Given the description of an element on the screen output the (x, y) to click on. 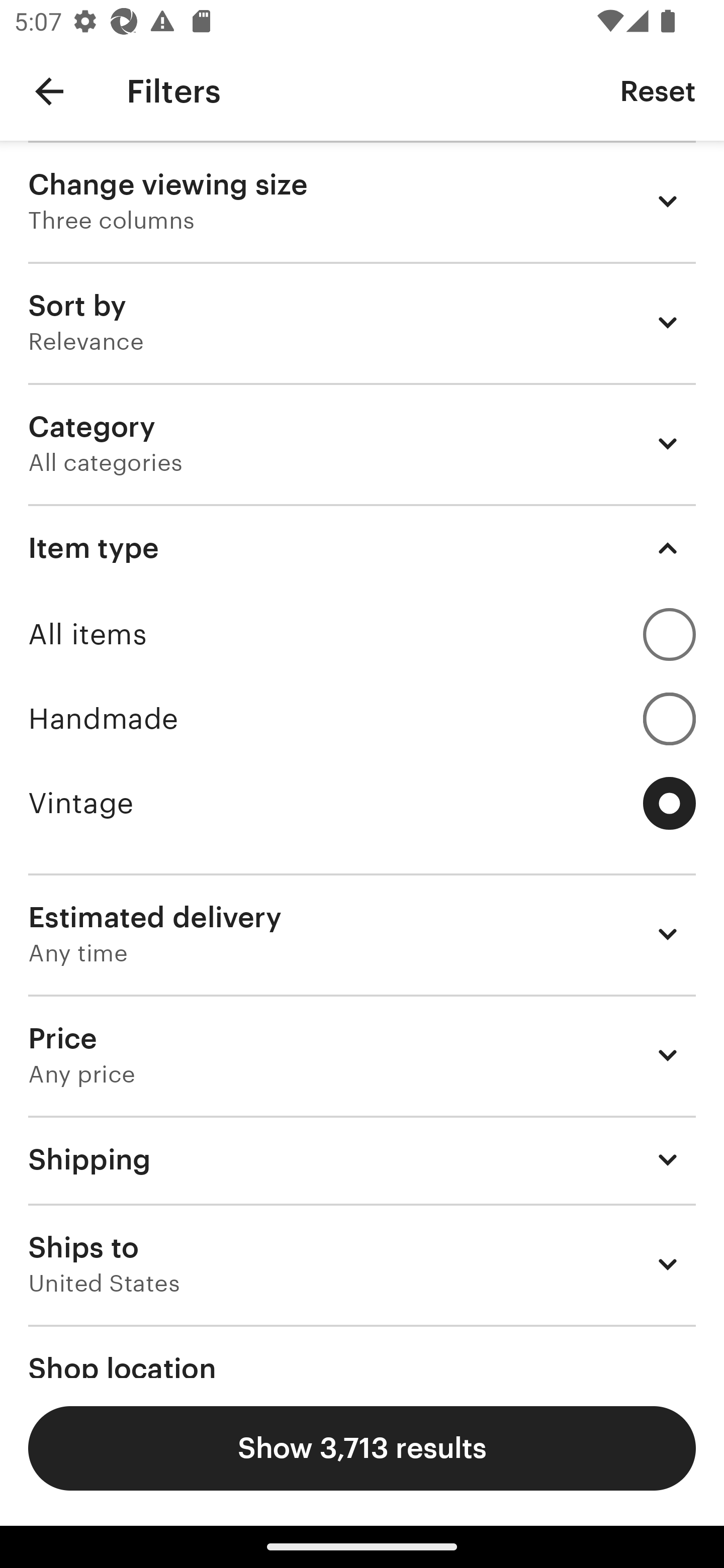
Navigate up (49, 91)
Reset (657, 90)
Change viewing size Three columns (362, 201)
Sort by Relevance (362, 321)
Category All categories (362, 442)
Item type (362, 547)
All items (362, 633)
Handmade (362, 717)
Vintage (362, 802)
Estimated delivery Any time (362, 933)
Price Any price (362, 1055)
Shipping (362, 1160)
Ships to United States (362, 1264)
Shop location (362, 1351)
Show 3,713 results Show 113,704 results (361, 1448)
